Given the description of an element on the screen output the (x, y) to click on. 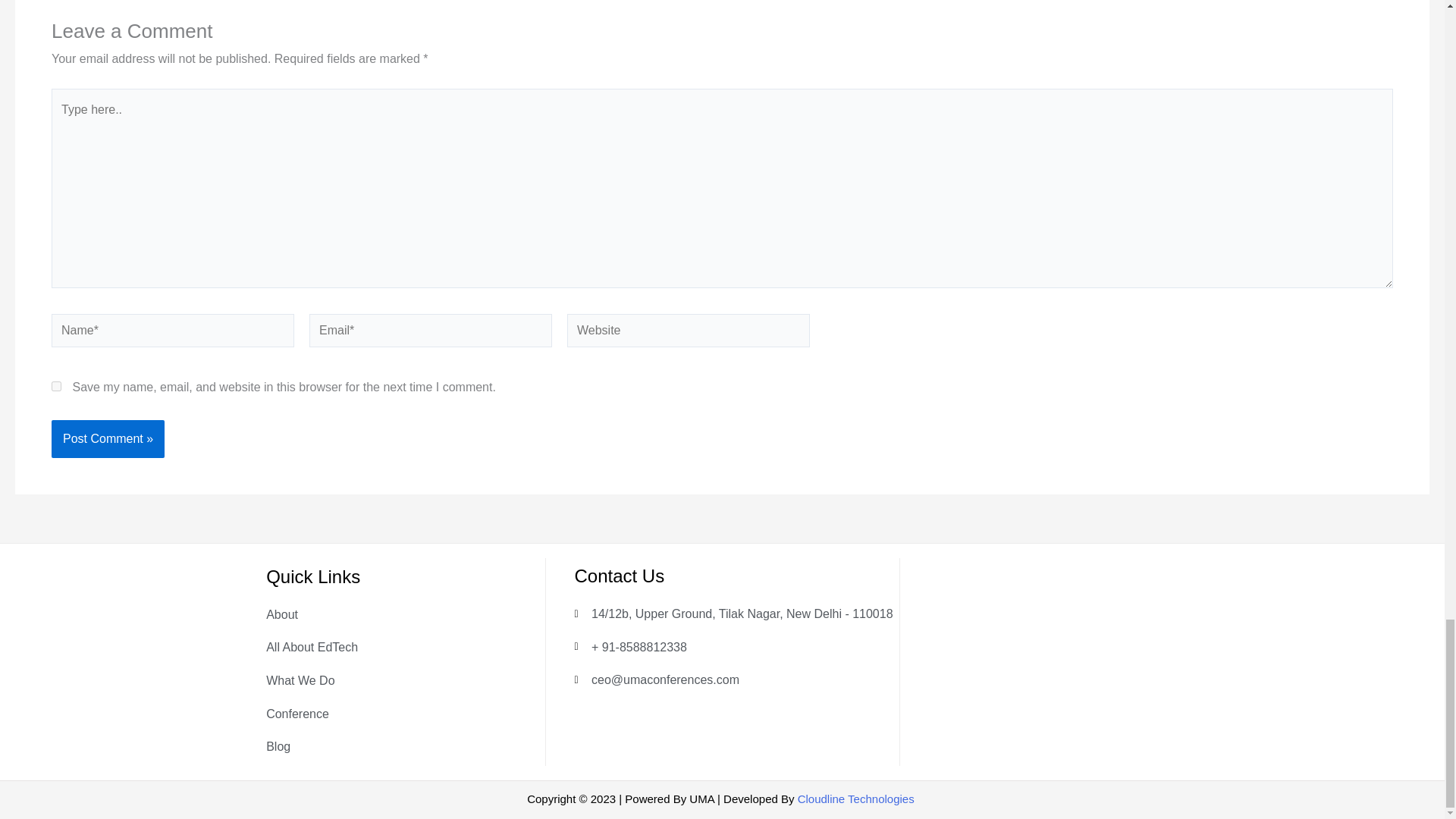
yes (55, 386)
